Given the description of an element on the screen output the (x, y) to click on. 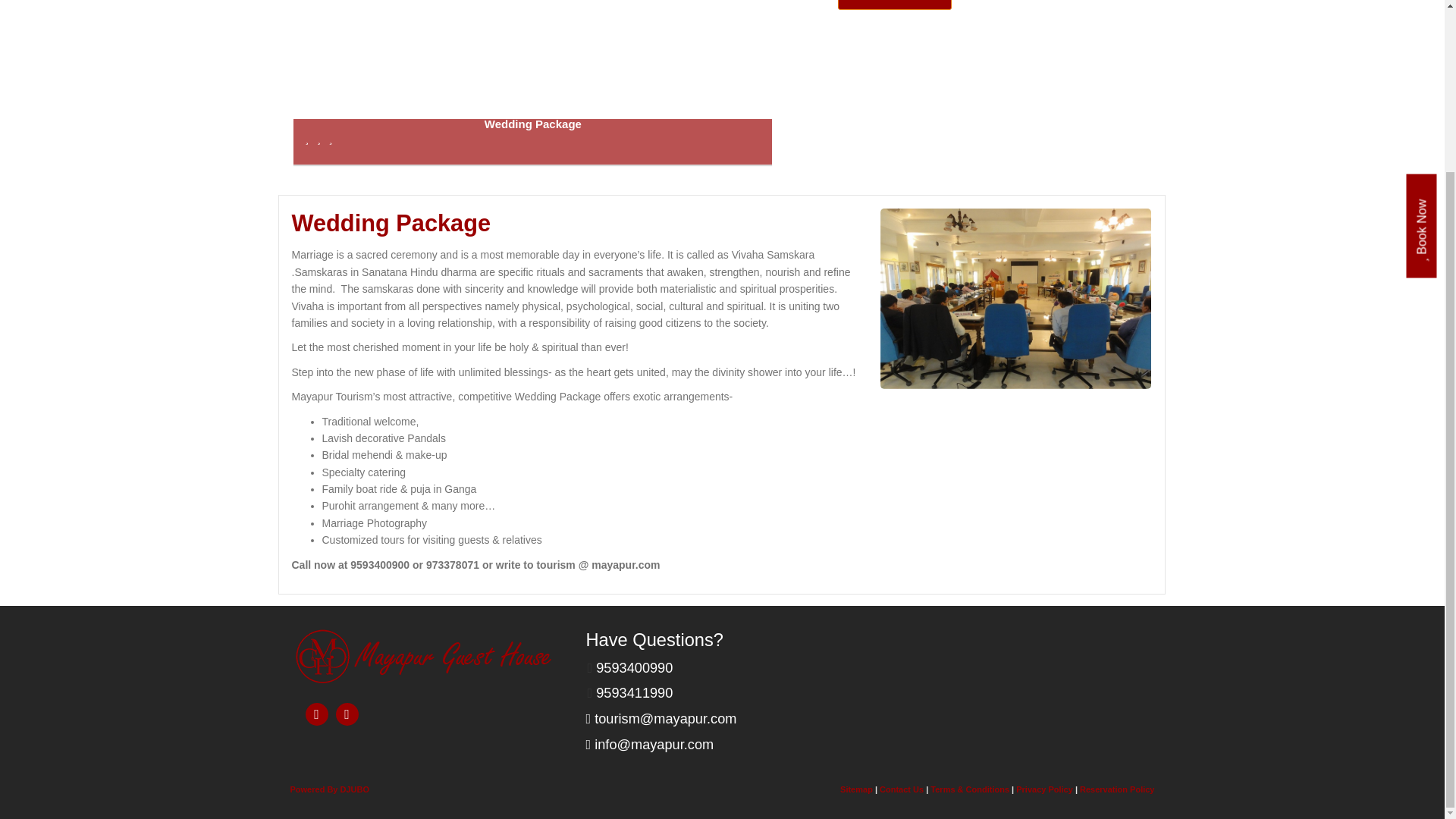
Powered By DJUBO (329, 788)
Book Package (895, 4)
Reservation Policy (1117, 788)
Image Title (424, 655)
Contact Us (901, 788)
Privacy Policy (1044, 788)
Sitemap (856, 788)
